Given the description of an element on the screen output the (x, y) to click on. 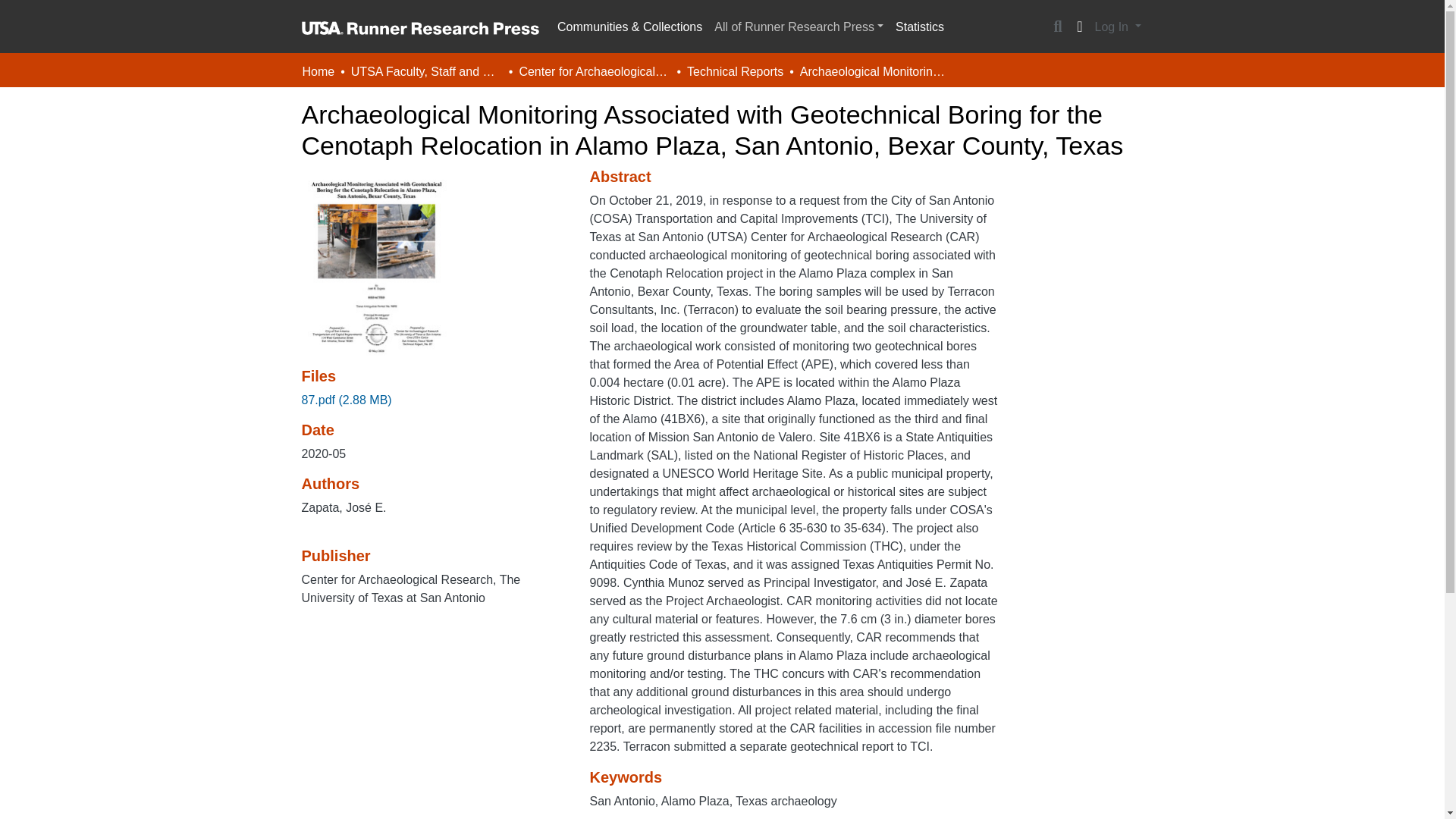
Home (317, 72)
Search (1057, 27)
Log In (1117, 26)
Statistics (919, 27)
Statistics (919, 27)
Language switch (1079, 27)
Center for Archaeological Research (593, 72)
Technical Reports (735, 72)
UTSA Faculty, Staff and Postdoctoral Researcher Work (426, 72)
All of Runner Research Press (798, 27)
